Given the description of an element on the screen output the (x, y) to click on. 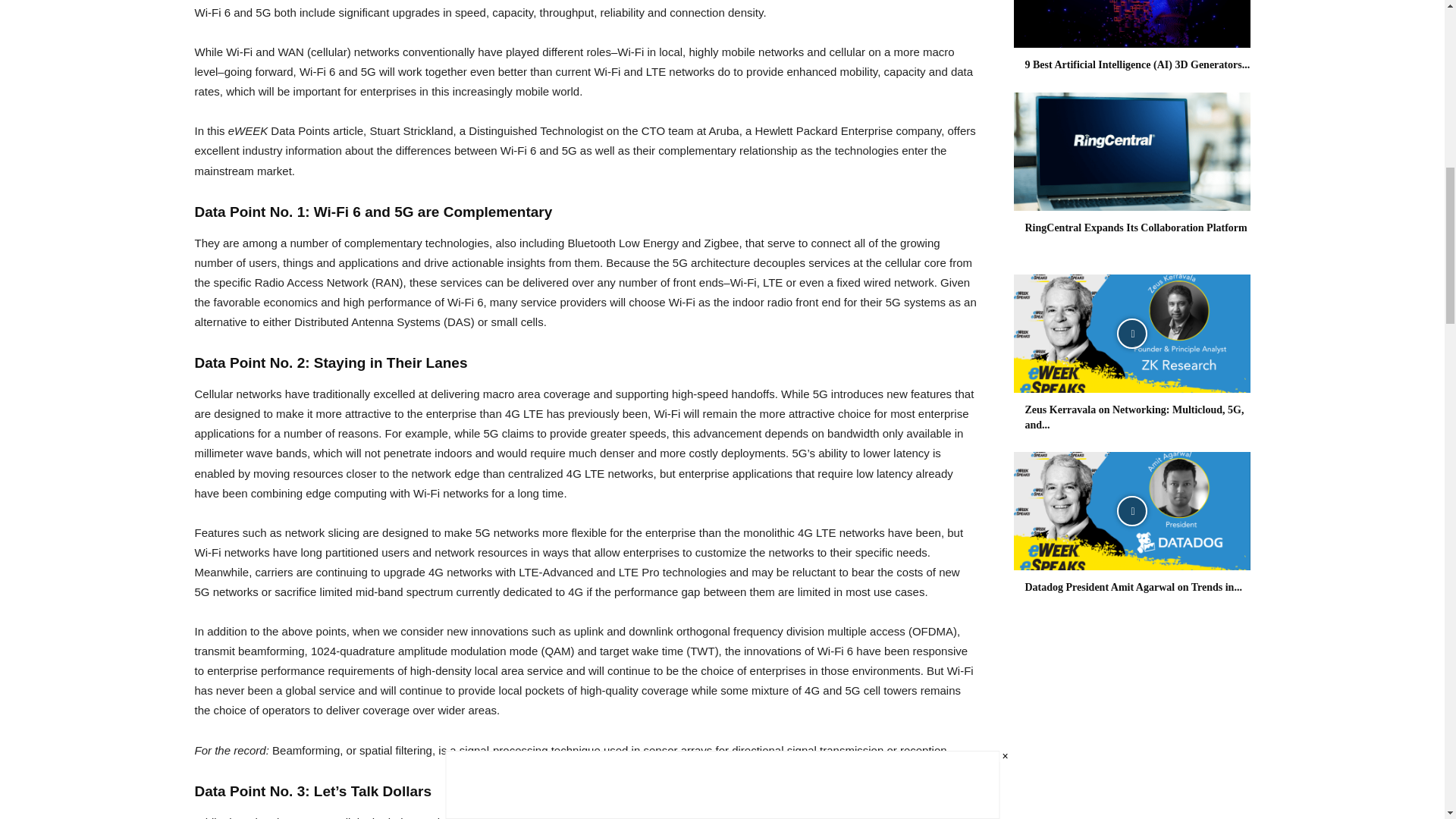
Zeus Kerravala on Networking: Multicloud, 5G, and Automation (1134, 417)
Zeus Kerravala on Networking: Multicloud, 5G, and Automation (1131, 333)
RingCentral Expands Its Collaboration Platform (1131, 151)
RingCentral Expands Its Collaboration Platform (1136, 227)
